Given the description of an element on the screen output the (x, y) to click on. 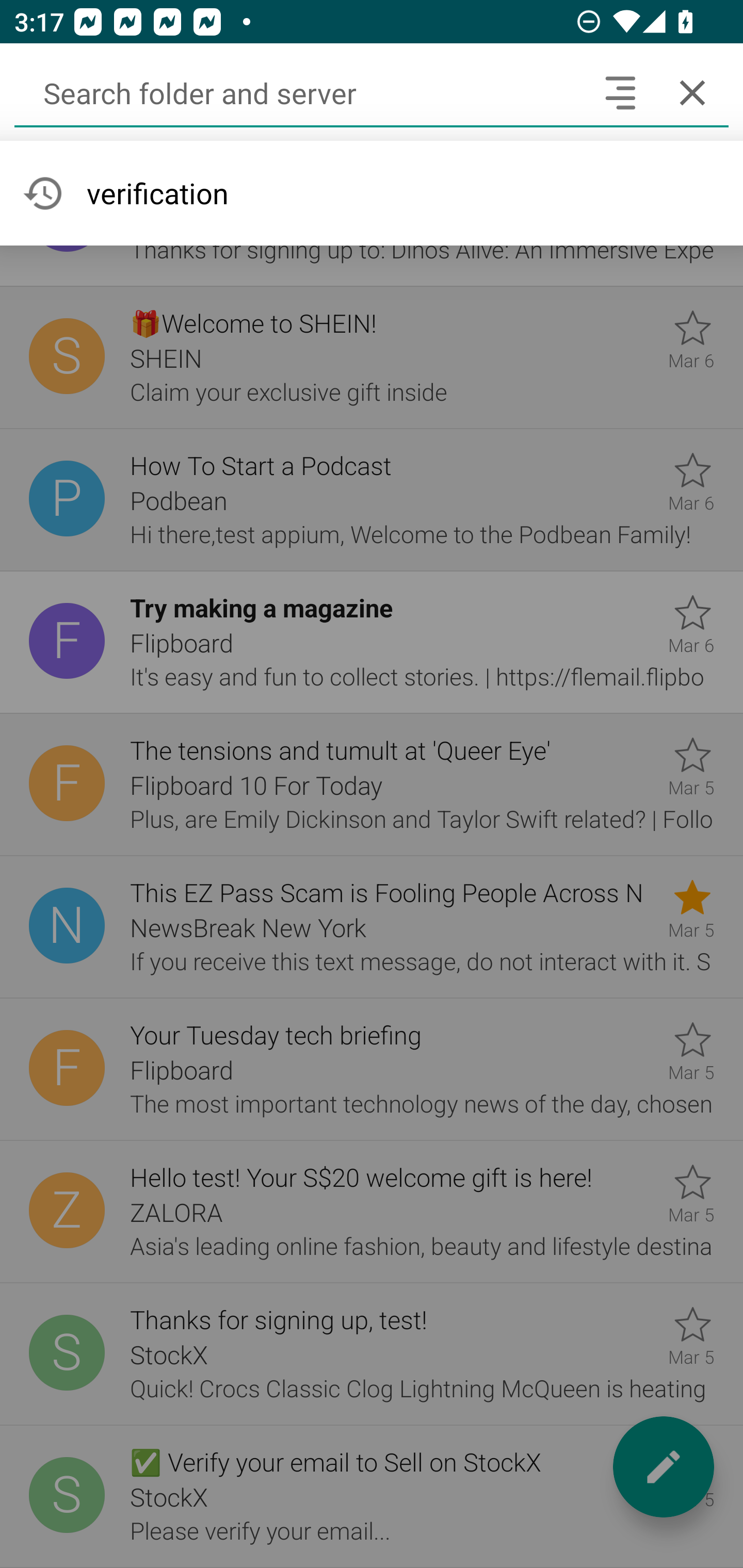
   Search folder and server (298, 92)
Search headers and text (619, 92)
Cancel (692, 92)
